Given the description of an element on the screen output the (x, y) to click on. 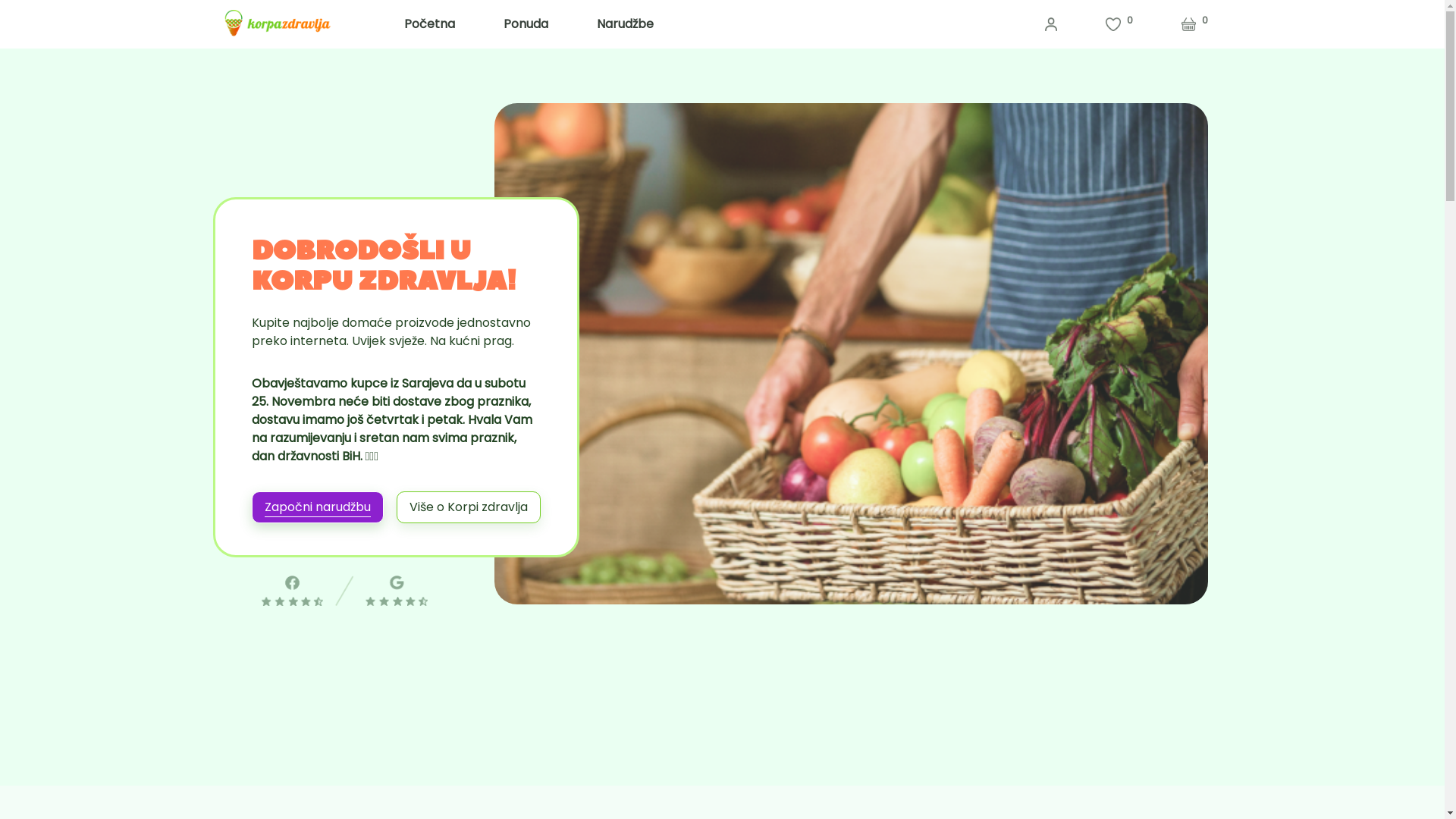
0 Element type: text (1194, 24)
Ponuda Element type: text (525, 24)
0 Element type: text (1119, 24)
